Given the description of an element on the screen output the (x, y) to click on. 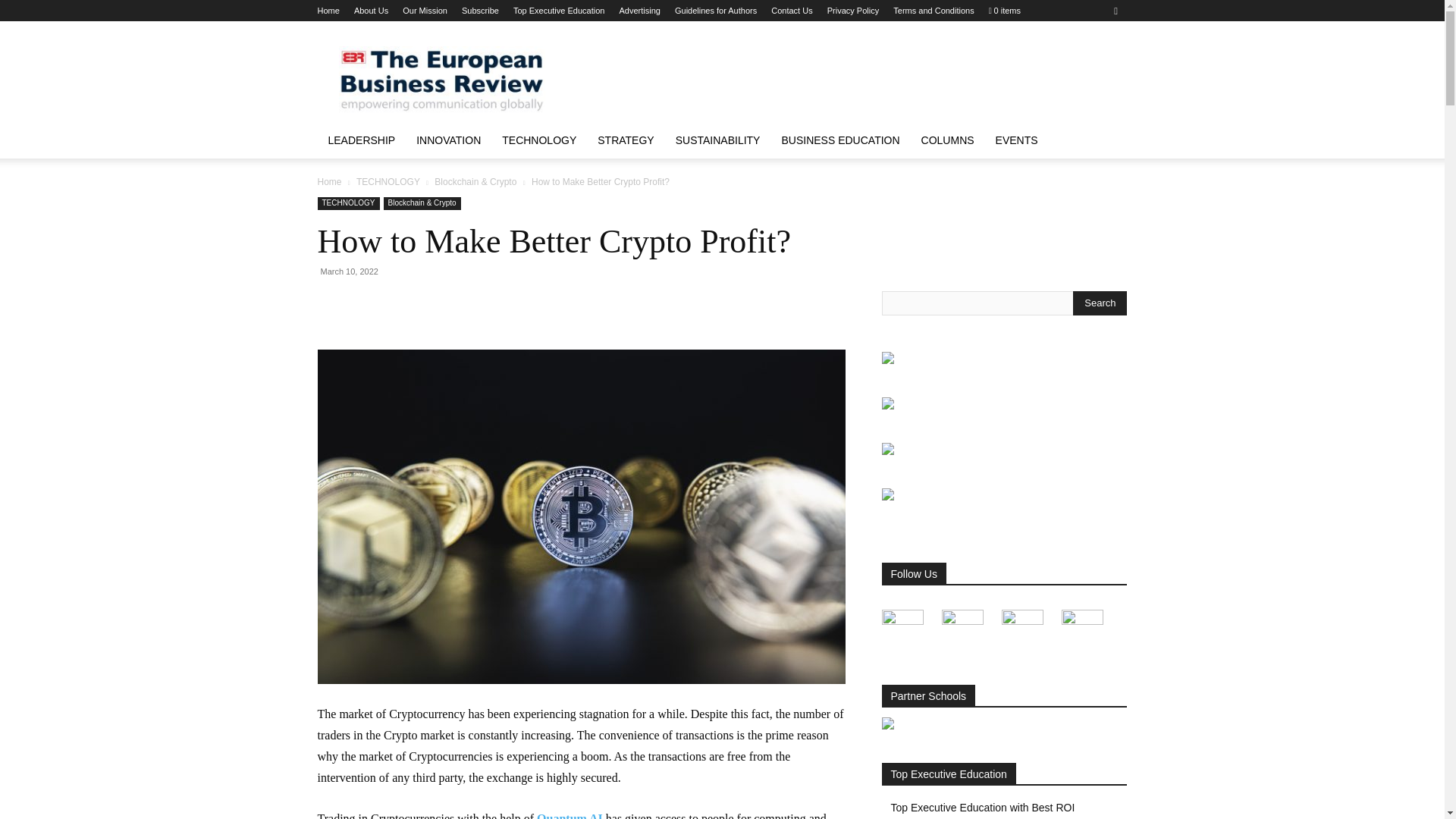
Innovation (449, 140)
advertisement (850, 76)
View all posts in TECHNOLOGY (388, 181)
Search (1099, 303)
Start shopping (1004, 10)
